Given the description of an element on the screen output the (x, y) to click on. 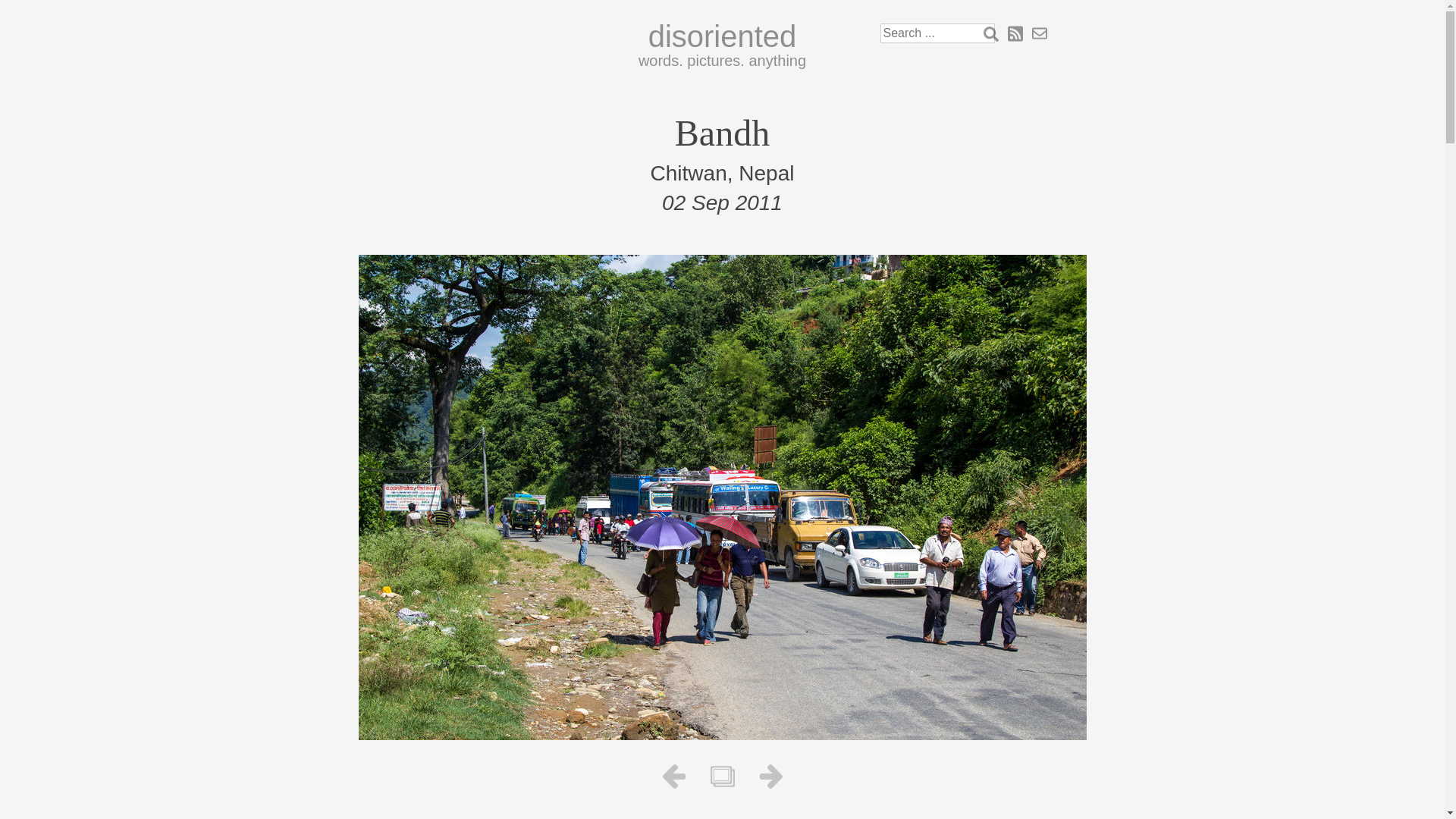
Atom and JSON feeds (1014, 33)
Send email to site owner (1038, 33)
Search website (989, 33)
Photoset (721, 776)
disoriented (721, 36)
